Given the description of an element on the screen output the (x, y) to click on. 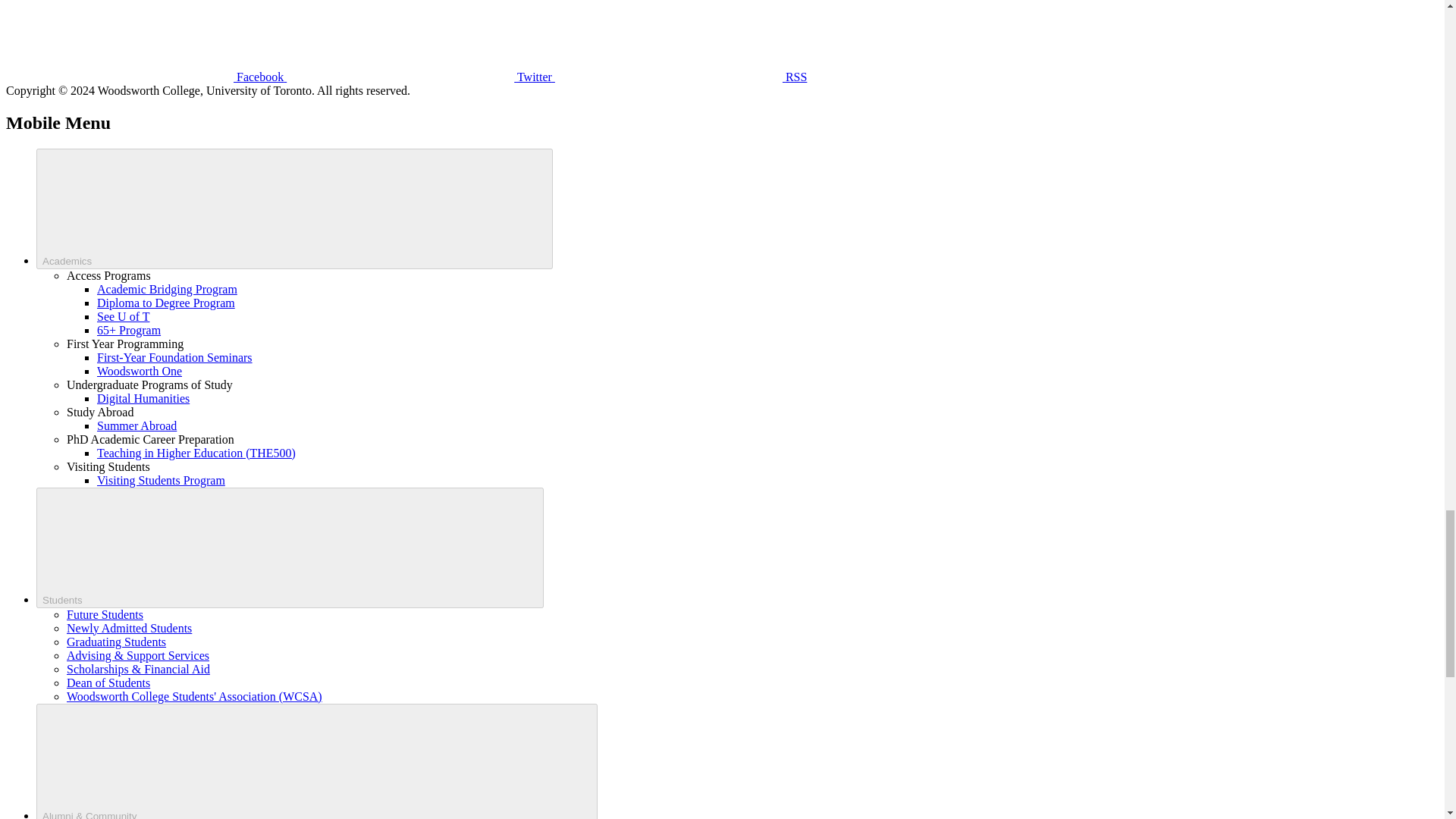
Share on Twitter (399, 40)
Share on Facebook (118, 40)
RSS Feed (668, 40)
